Given the description of an element on the screen output the (x, y) to click on. 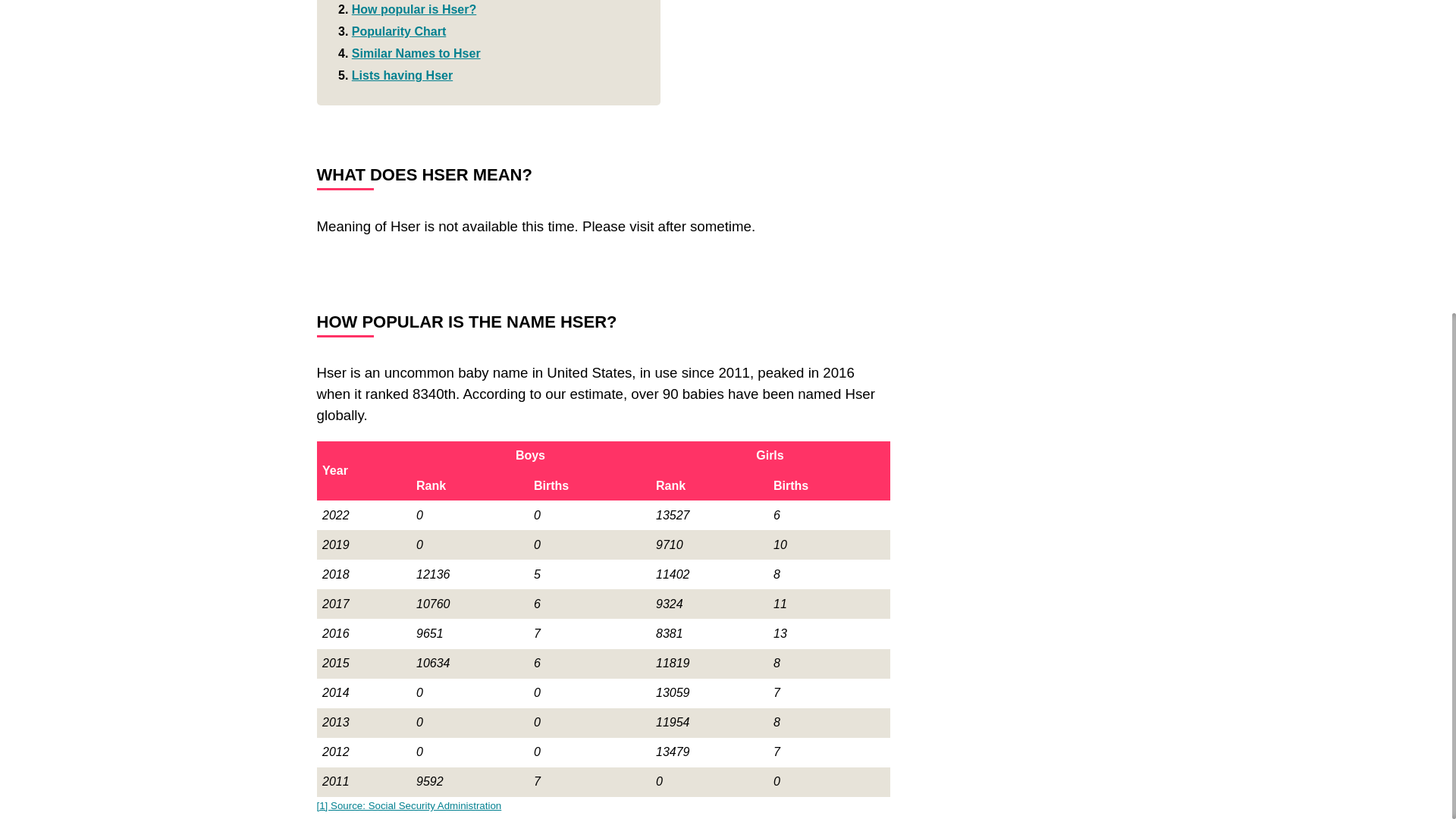
How popular is Hser? (414, 9)
Lists having Hser (402, 74)
Popularity Chart (398, 31)
Similar Names to Hser (416, 52)
